Given the description of an element on the screen output the (x, y) to click on. 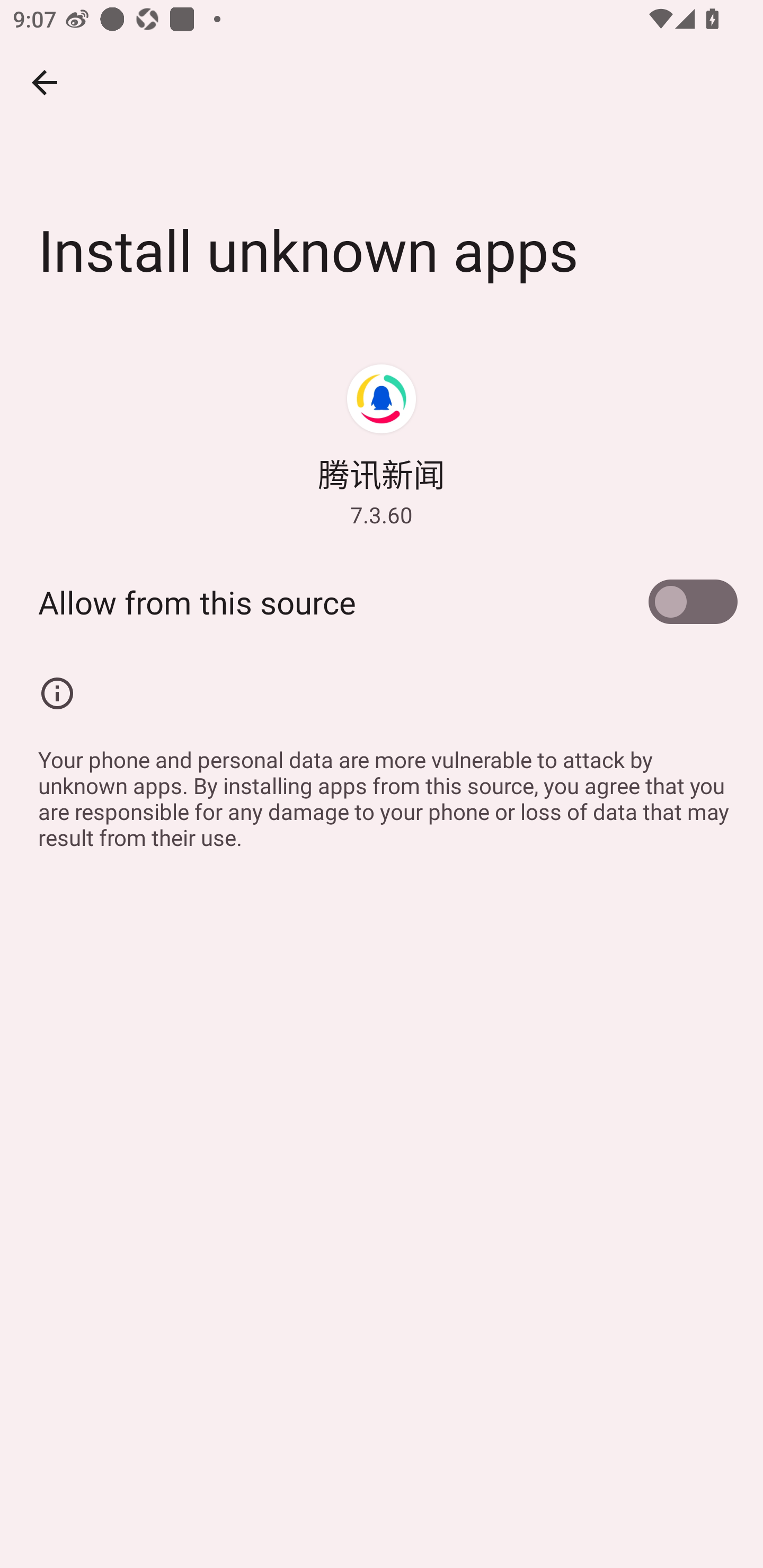
Navigate up (44, 82)
腾讯新闻 7.3.60 (381, 444)
Allow from this source (381, 602)
